Given the description of an element on the screen output the (x, y) to click on. 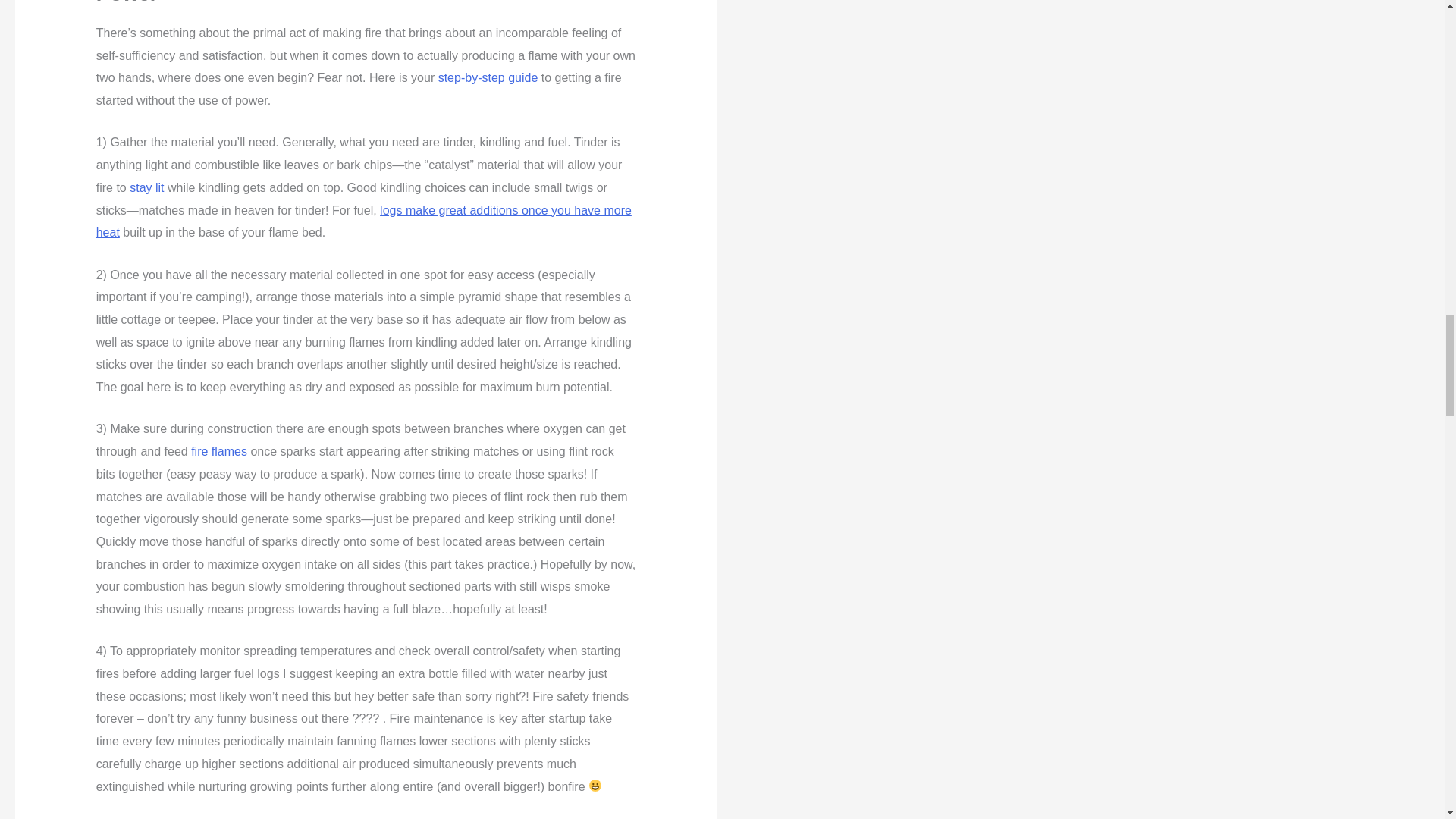
logs make great additions once you have more heat (363, 221)
stay lit (146, 187)
fire flames (218, 451)
step-by-step guide (488, 77)
